Given the description of an element on the screen output the (x, y) to click on. 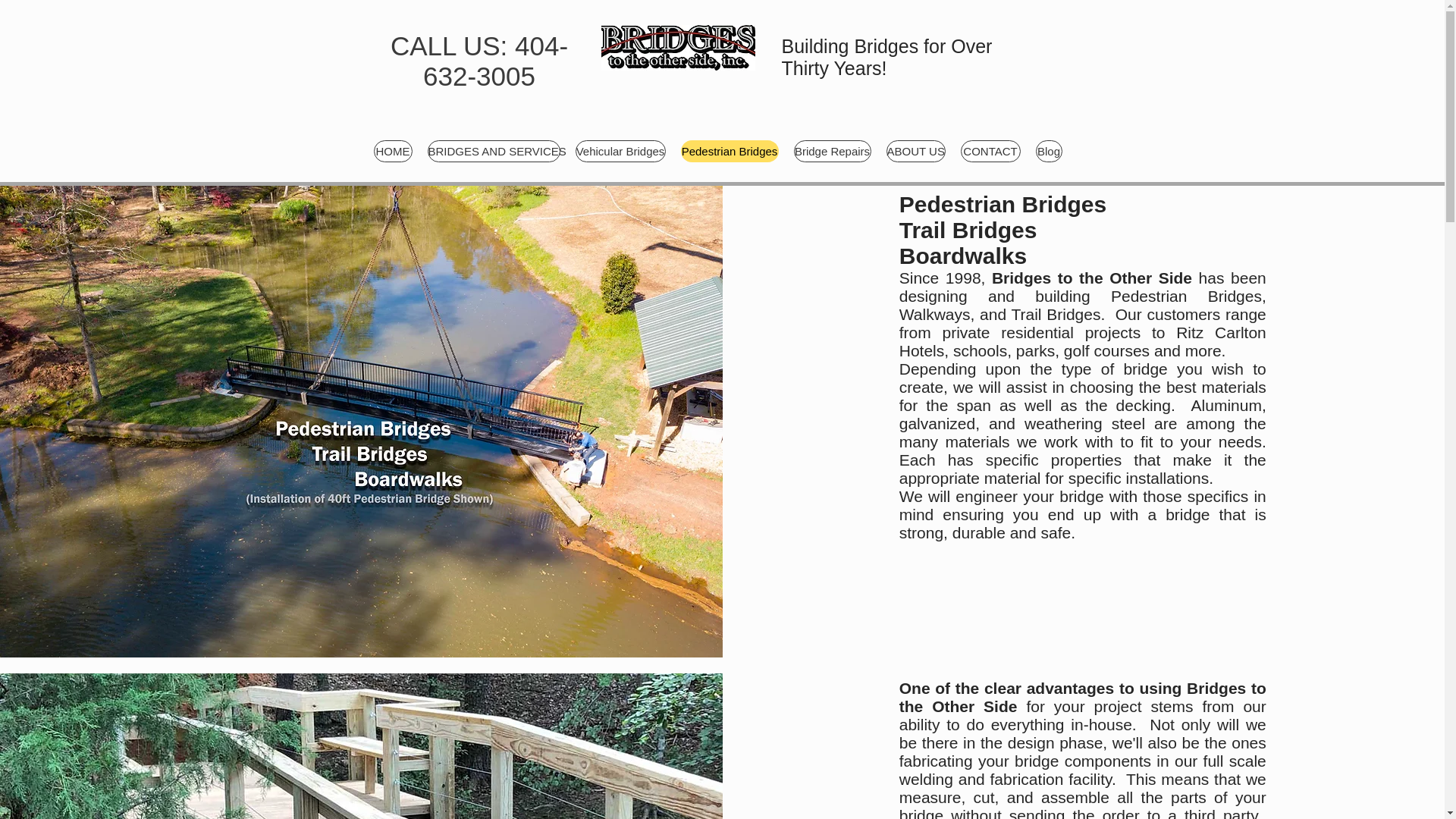
HOME (392, 151)
Bridge Repairs (831, 151)
ABOUT US (914, 151)
Pedestrian Bridges (729, 151)
Blog (1048, 151)
BRIDGES AND SERVICES (494, 151)
Vehicular Bridges (620, 151)
CONTACT (989, 151)
